Given the description of an element on the screen output the (x, y) to click on. 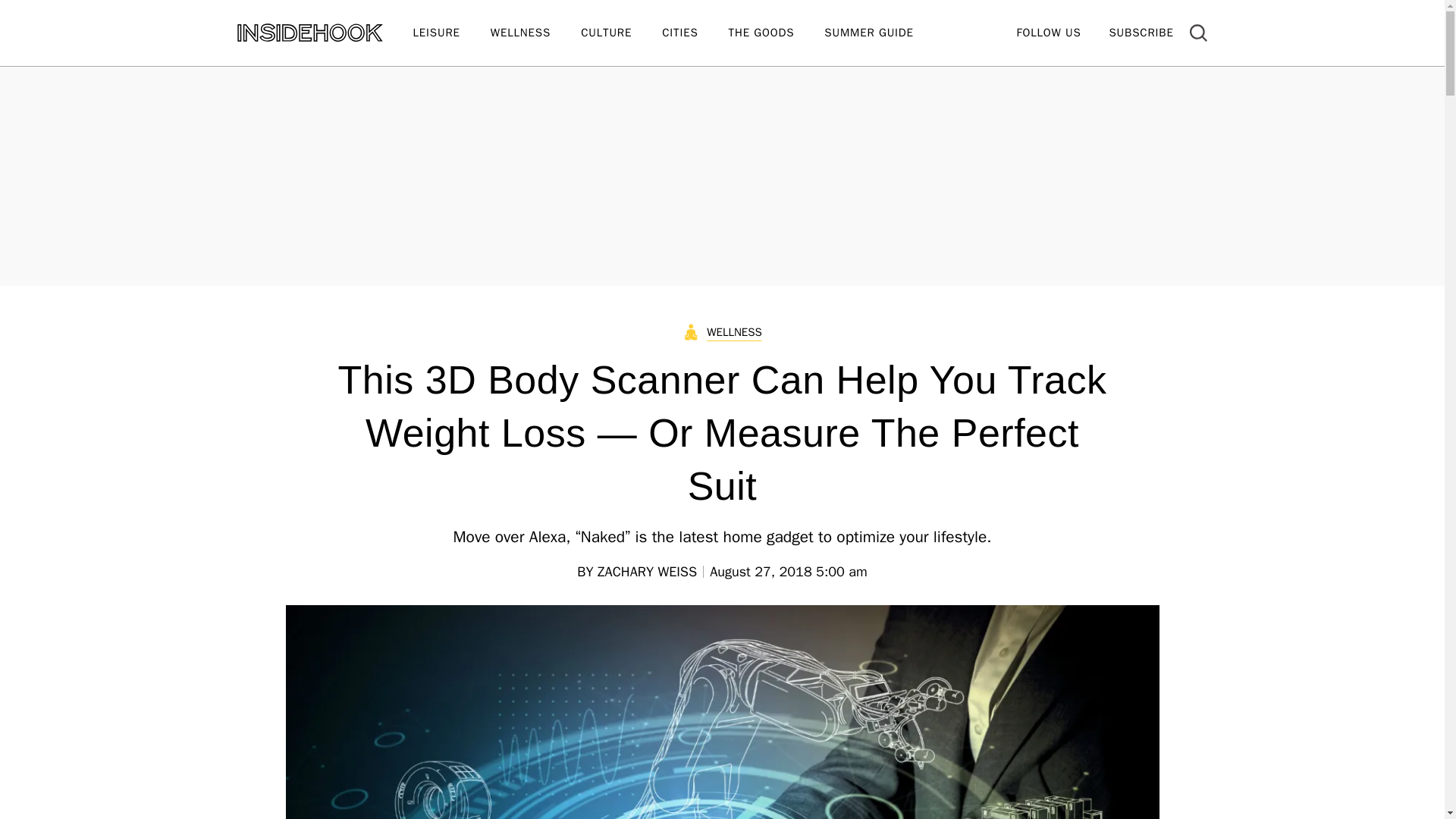
THE GOODS (777, 32)
FOLLOW US (1048, 32)
SUBSCRIBE (1140, 32)
WELLNESS (535, 32)
LEISURE (450, 32)
CULTURE (621, 32)
CITIES (695, 32)
SUMMER GUIDE (883, 32)
